Given the description of an element on the screen output the (x, y) to click on. 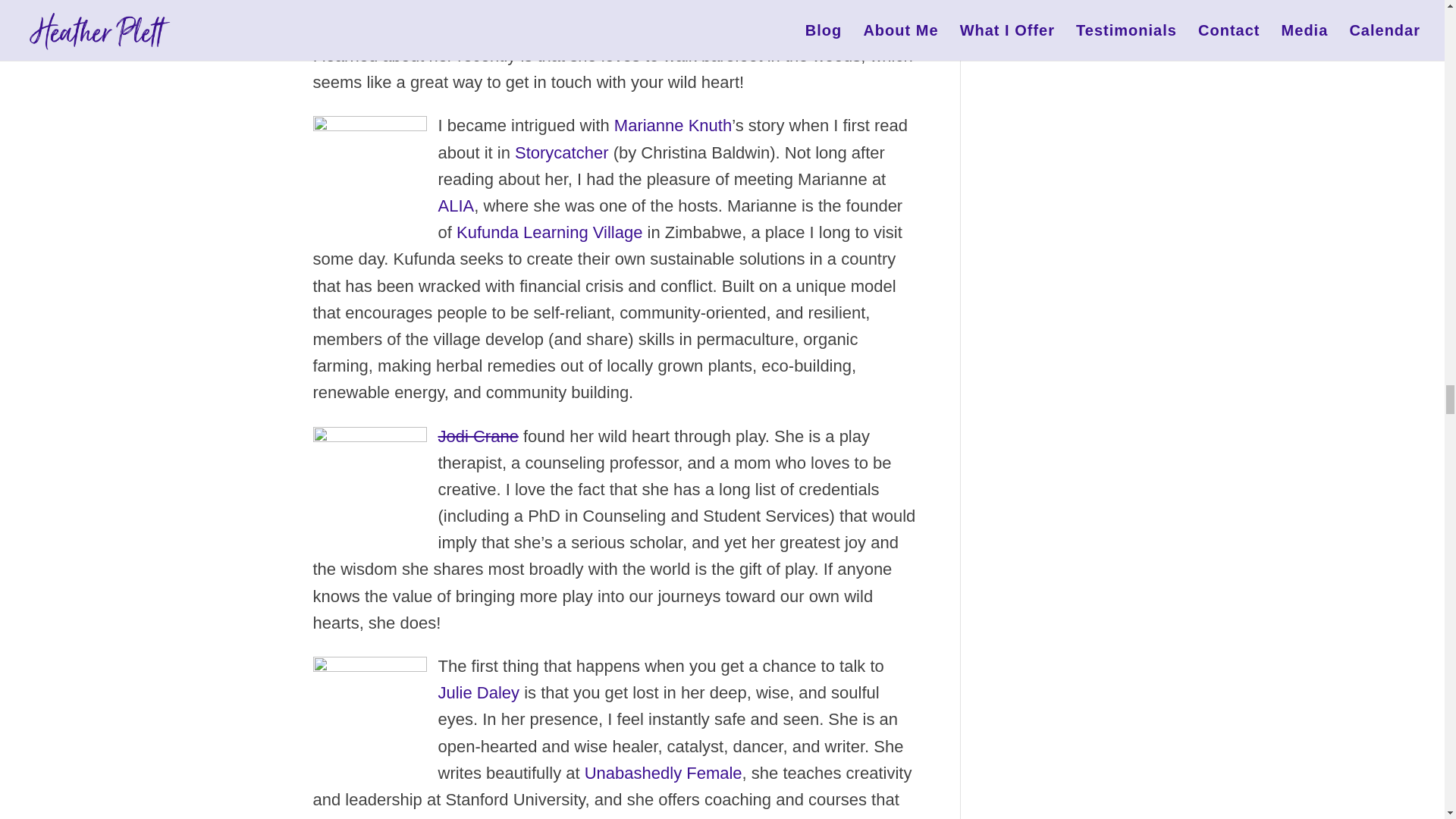
Julie Daley Golden State Soul Portrait (369, 709)
Marianne Knuth (369, 169)
